Given the description of an element on the screen output the (x, y) to click on. 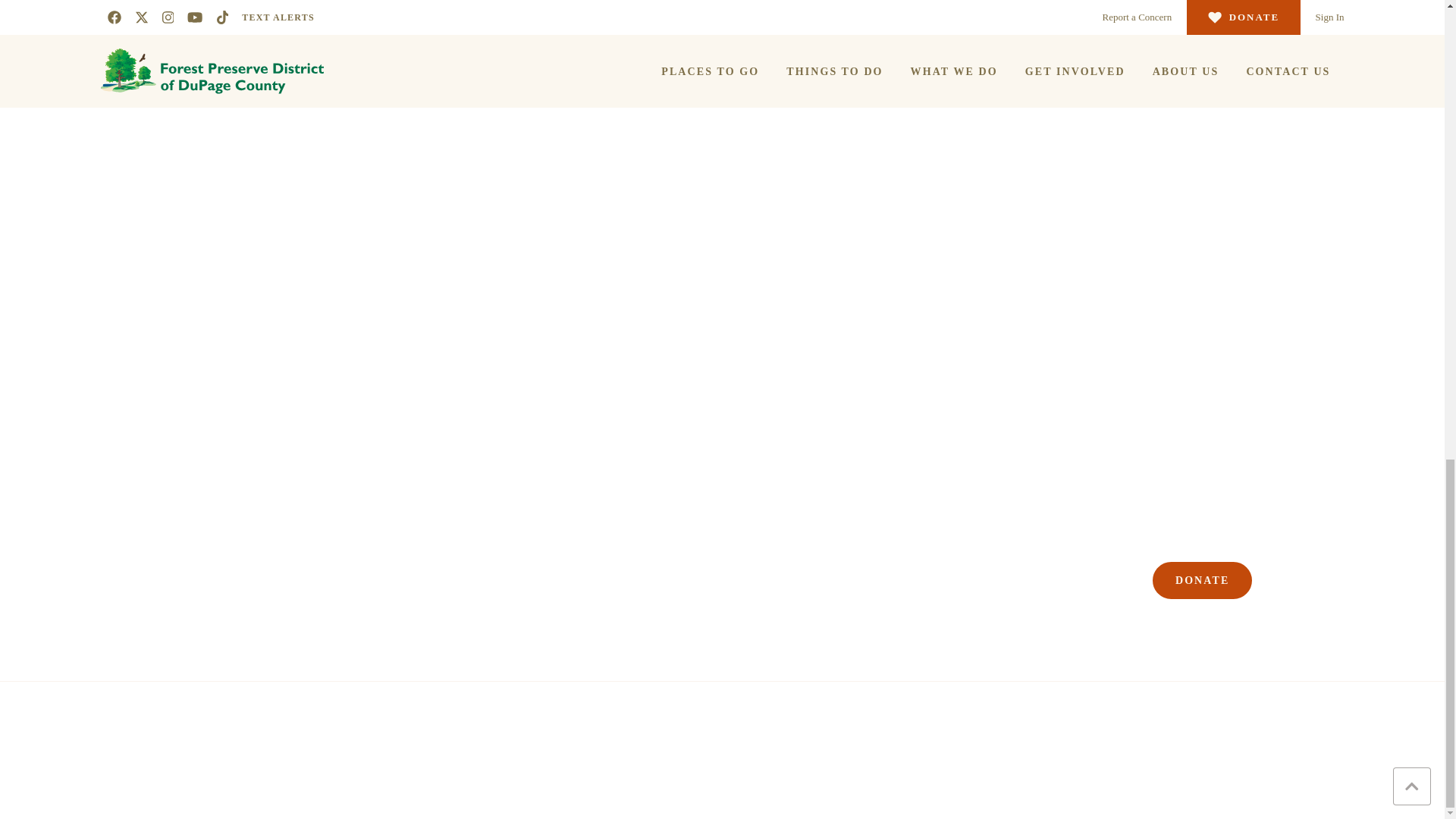
TikTok (1260, 495)
YouTube (1233, 495)
X (1179, 495)
Instagram (1205, 495)
